Given the description of an element on the screen output the (x, y) to click on. 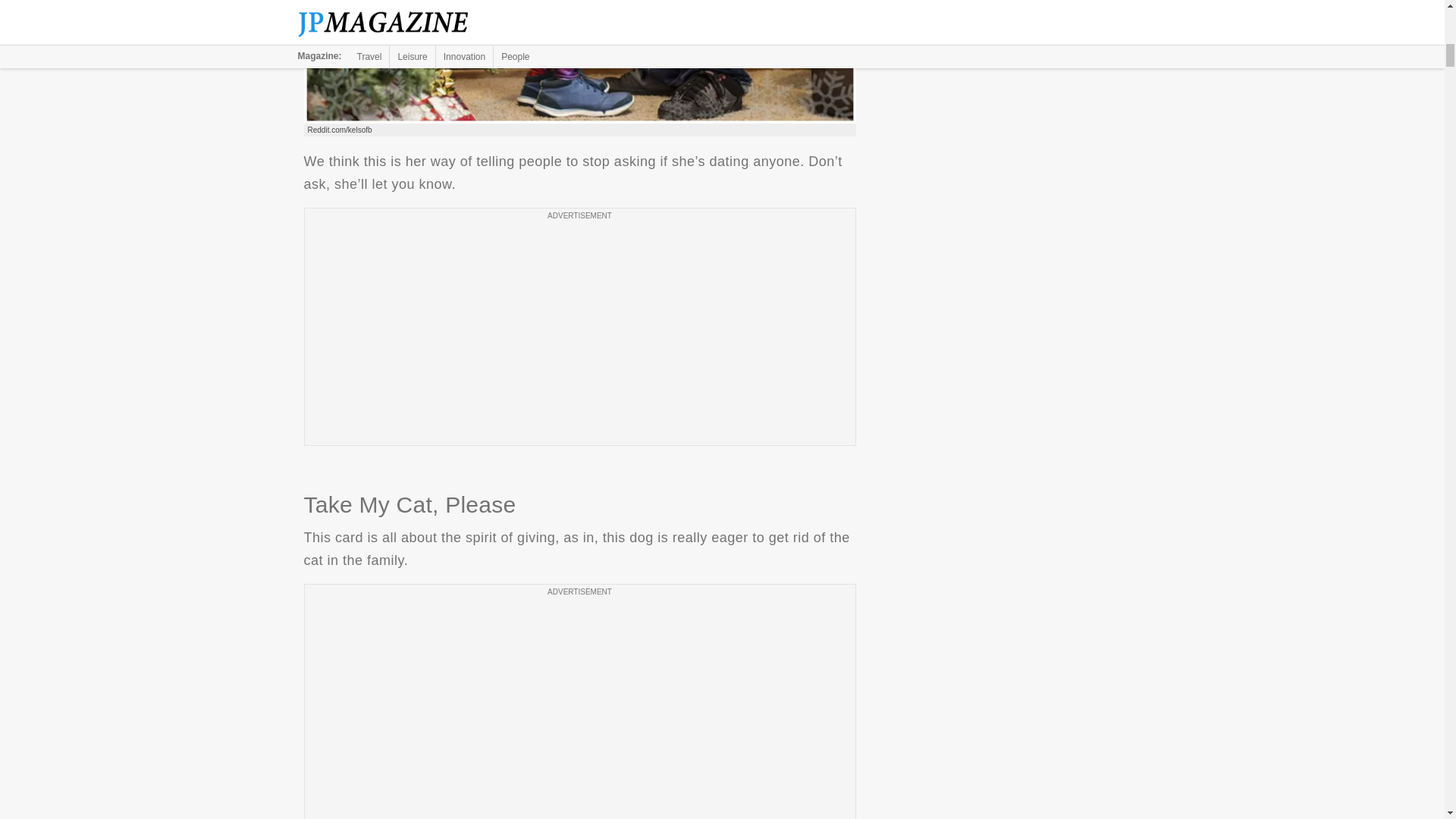
All I Want for Christmas, Is Not to Be Alone (579, 61)
